Given the description of an element on the screen output the (x, y) to click on. 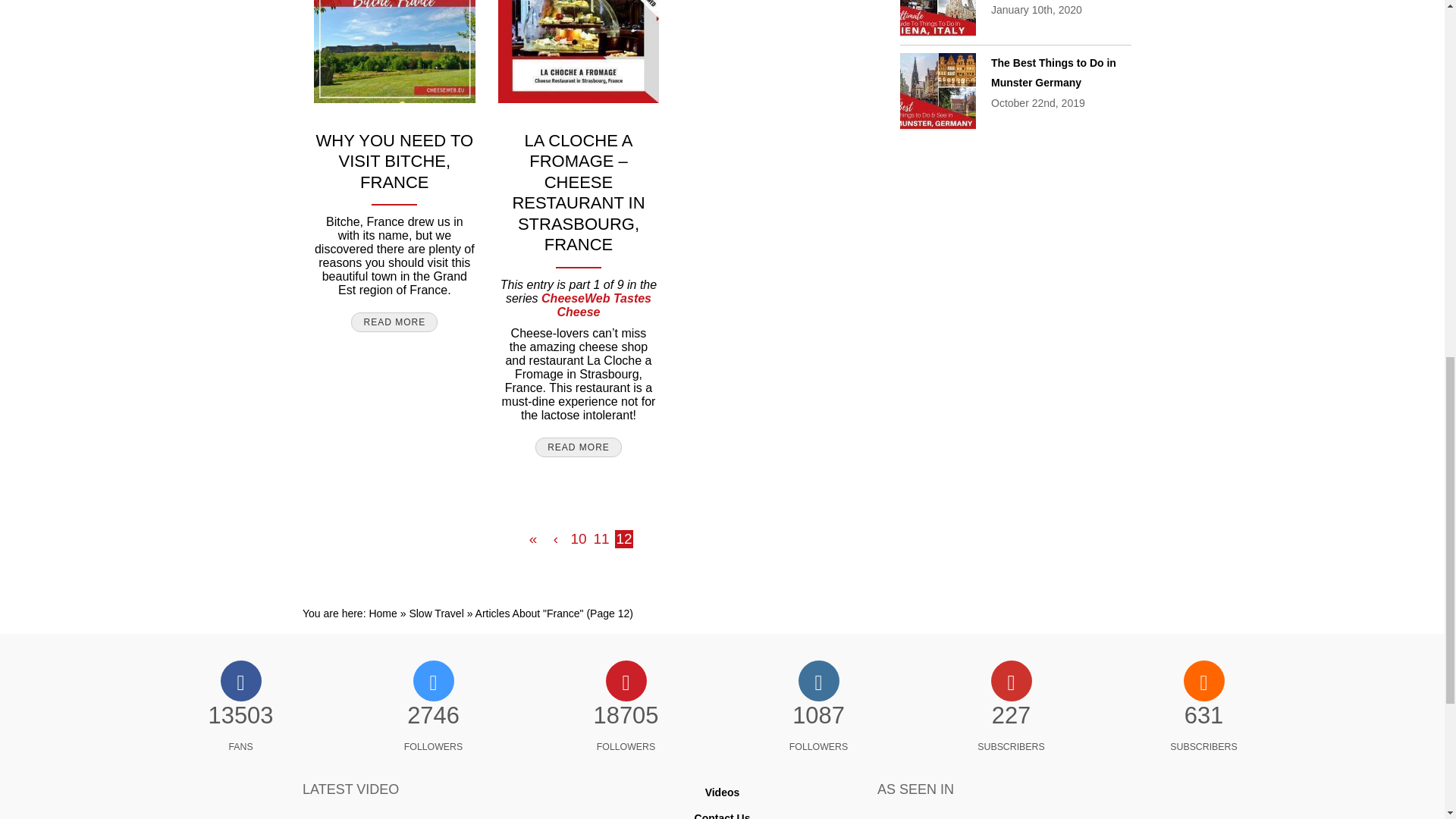
Go to Slow Travel (436, 613)
Contact Us (722, 815)
CheeseWeb Tastes Cheese (595, 304)
Home (382, 613)
The Best Things to Do in Siena Italy (937, 18)
The Best Things to Do in Munster Germany (1053, 72)
Videos (721, 792)
The Best Things to Do in Munster Germany (937, 91)
